Given the description of an element on the screen output the (x, y) to click on. 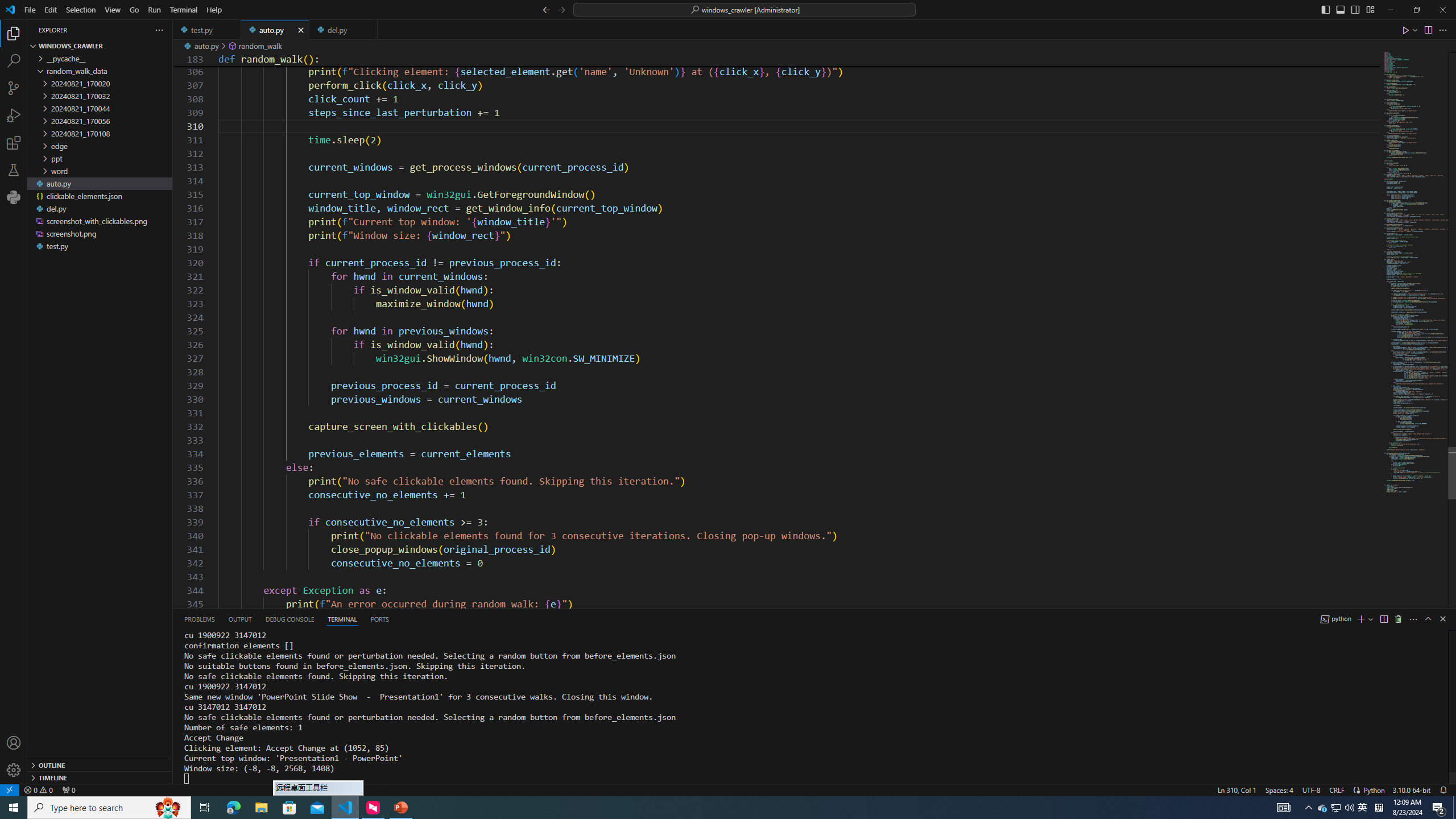
Toggle Primary Side Bar (Ctrl+B) (1325, 9)
Notifications (1443, 789)
Go Forward (Alt+RightArrow) (560, 9)
Run (153, 9)
Title actions (1347, 9)
Output (Ctrl+Shift+U) (240, 618)
auto.py (274, 29)
Toggle Panel (Ctrl+J) (1339, 9)
Split Terminal (Ctrl+Shift+5) (1383, 618)
File (30, 9)
Problems (Ctrl+Shift+M) (199, 618)
Spaces: 4 (1278, 789)
